Given the description of an element on the screen output the (x, y) to click on. 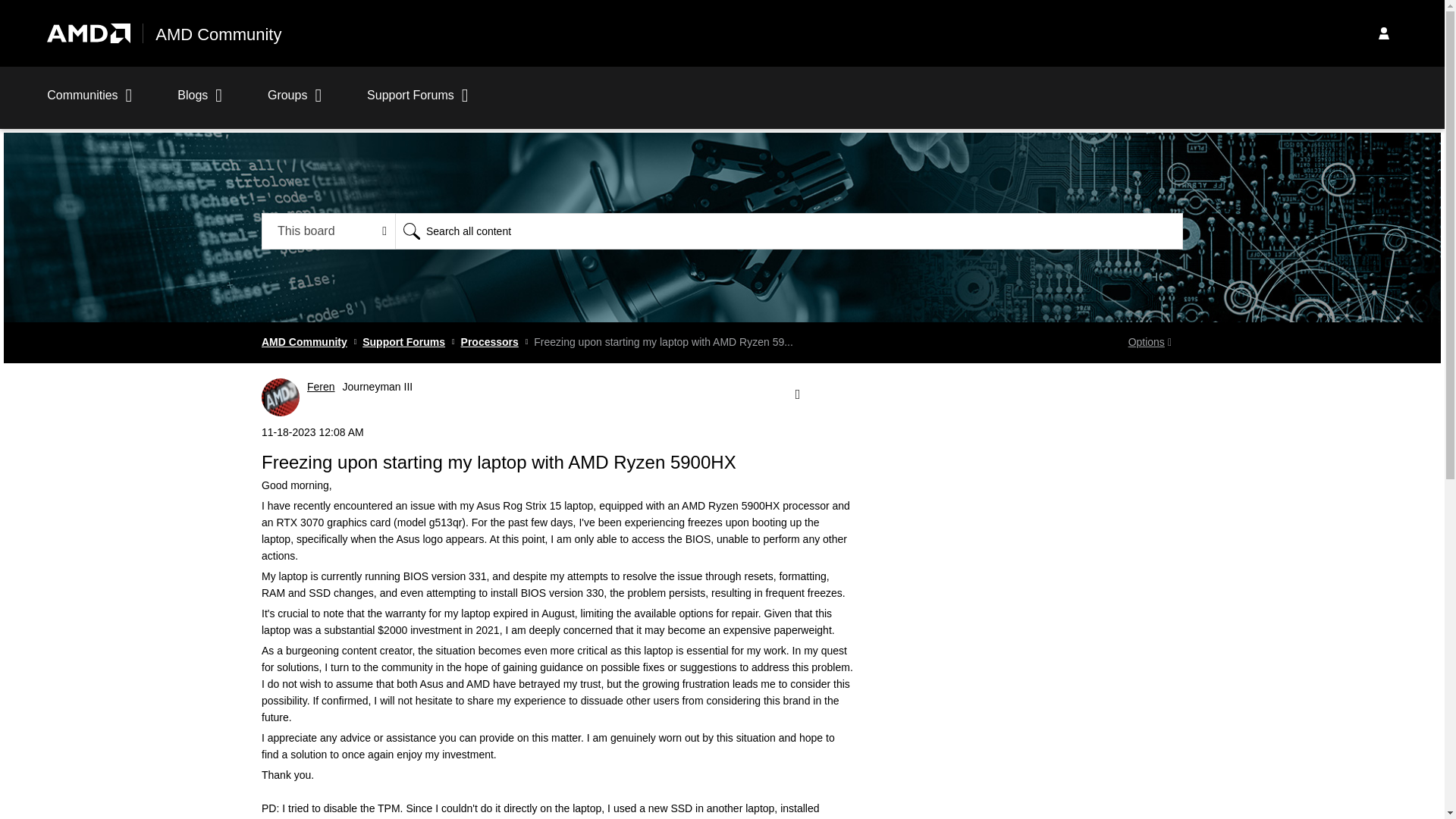
Search (411, 230)
Search (411, 230)
Support Forums (416, 103)
Sign In (1383, 32)
Blogs (199, 103)
AMD Community (218, 34)
Show option menu (796, 394)
Search (788, 230)
Search Granularity (329, 230)
Show option menu (1149, 342)
